Given the description of an element on the screen output the (x, y) to click on. 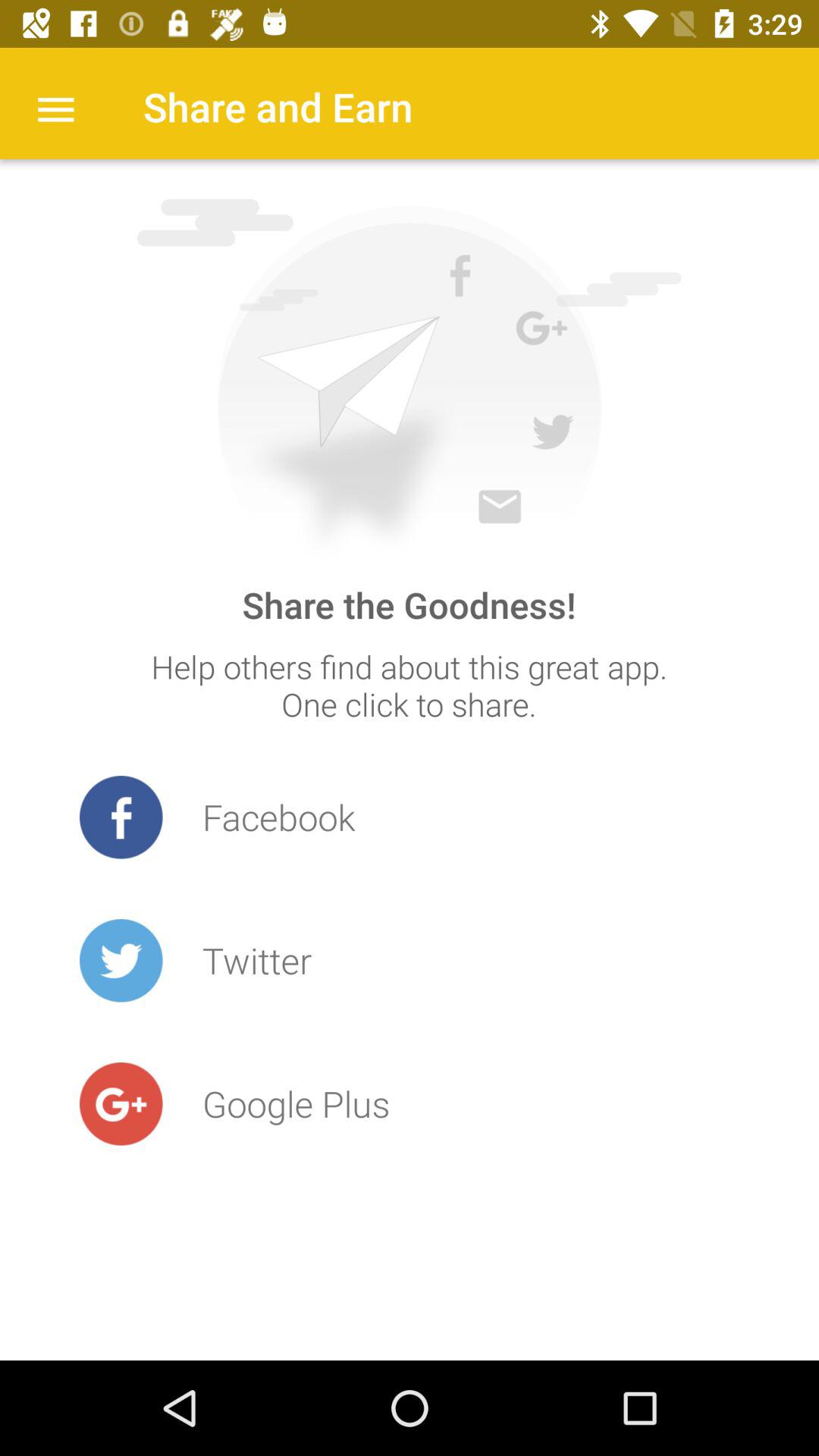
tap item next to share and earn icon (55, 107)
